Given the description of an element on the screen output the (x, y) to click on. 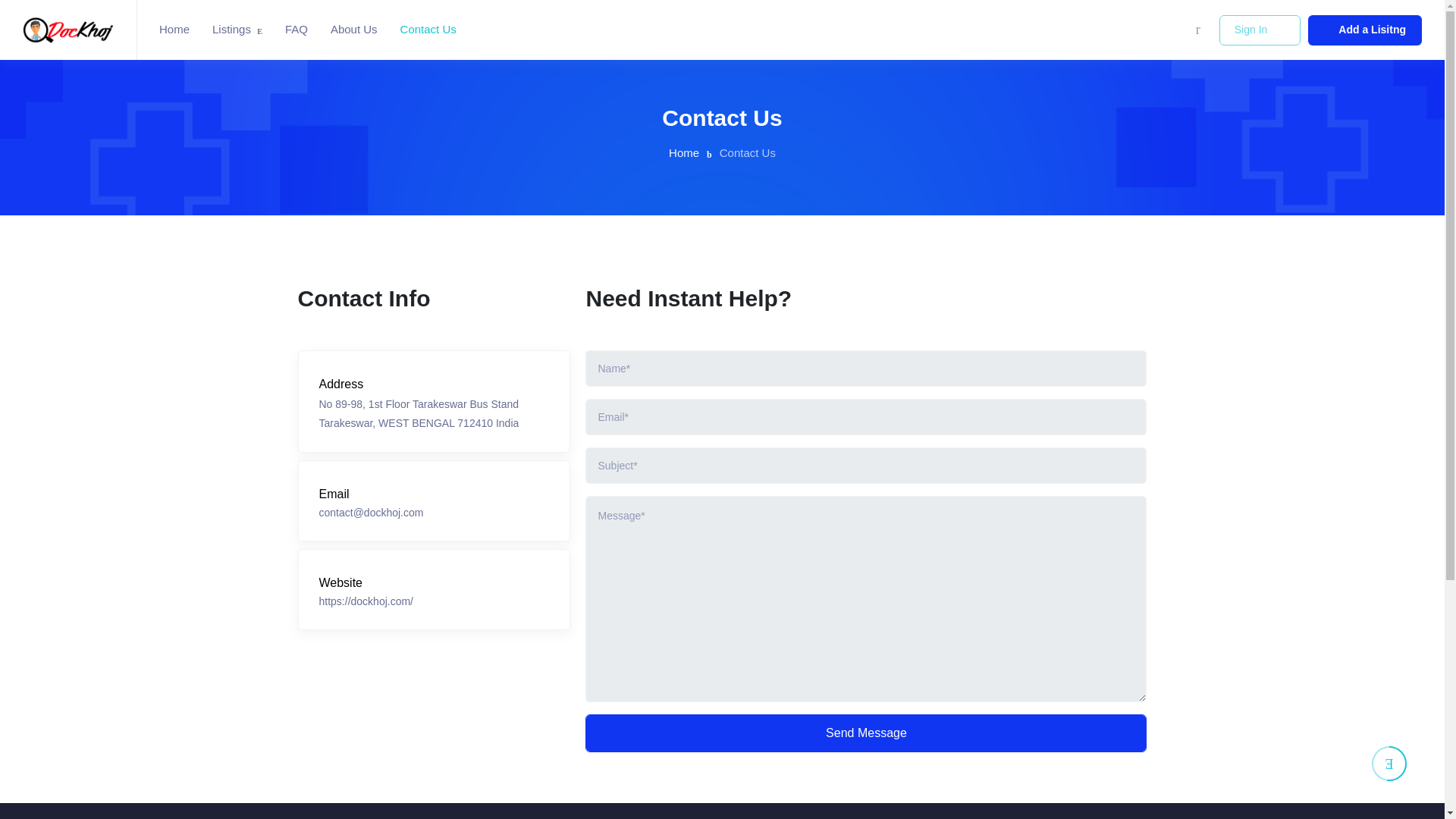
Home (173, 29)
Send Message (866, 733)
Listings (237, 29)
